Given the description of an element on the screen output the (x, y) to click on. 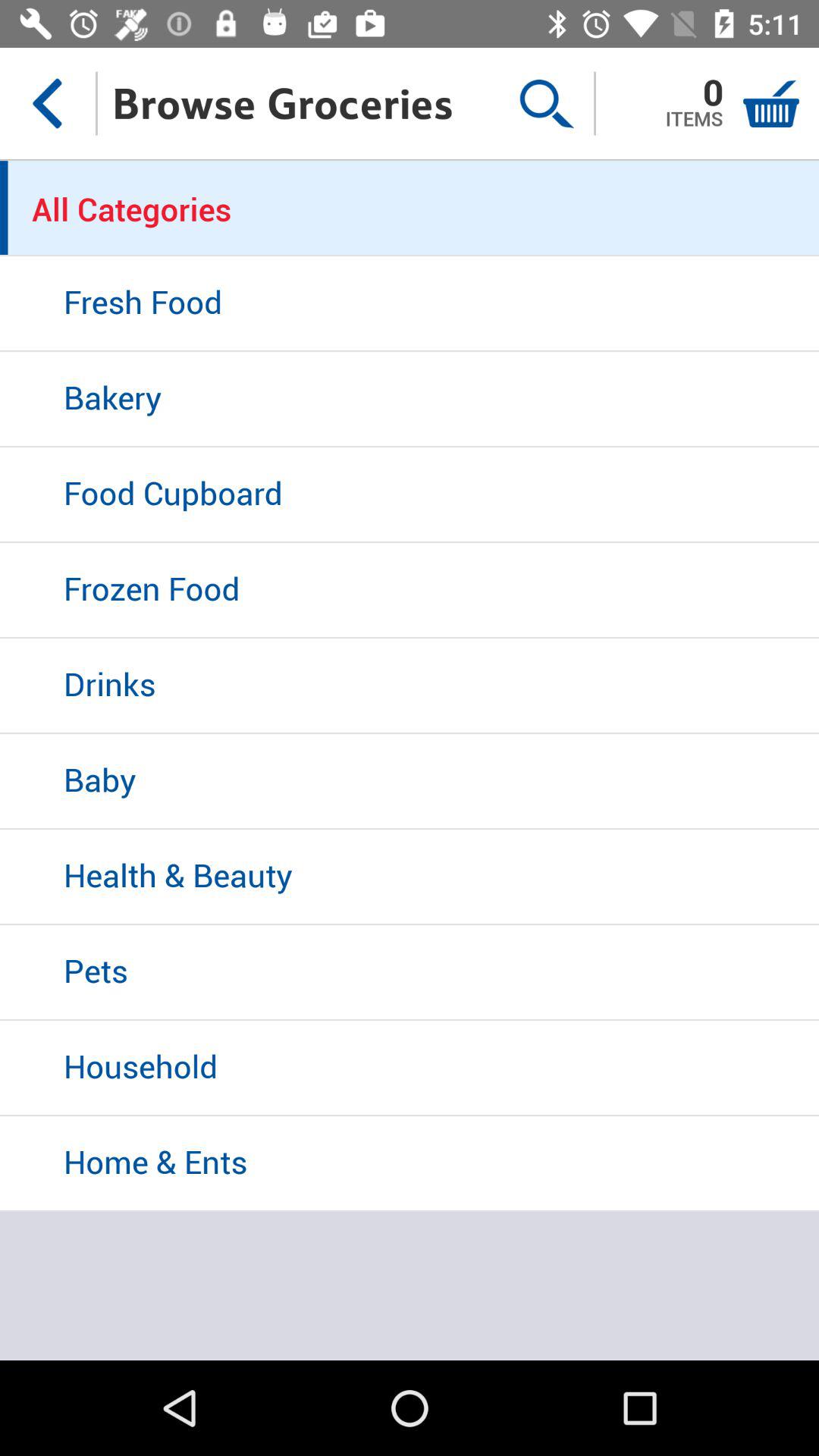
open health & beauty item (409, 877)
